Given the description of an element on the screen output the (x, y) to click on. 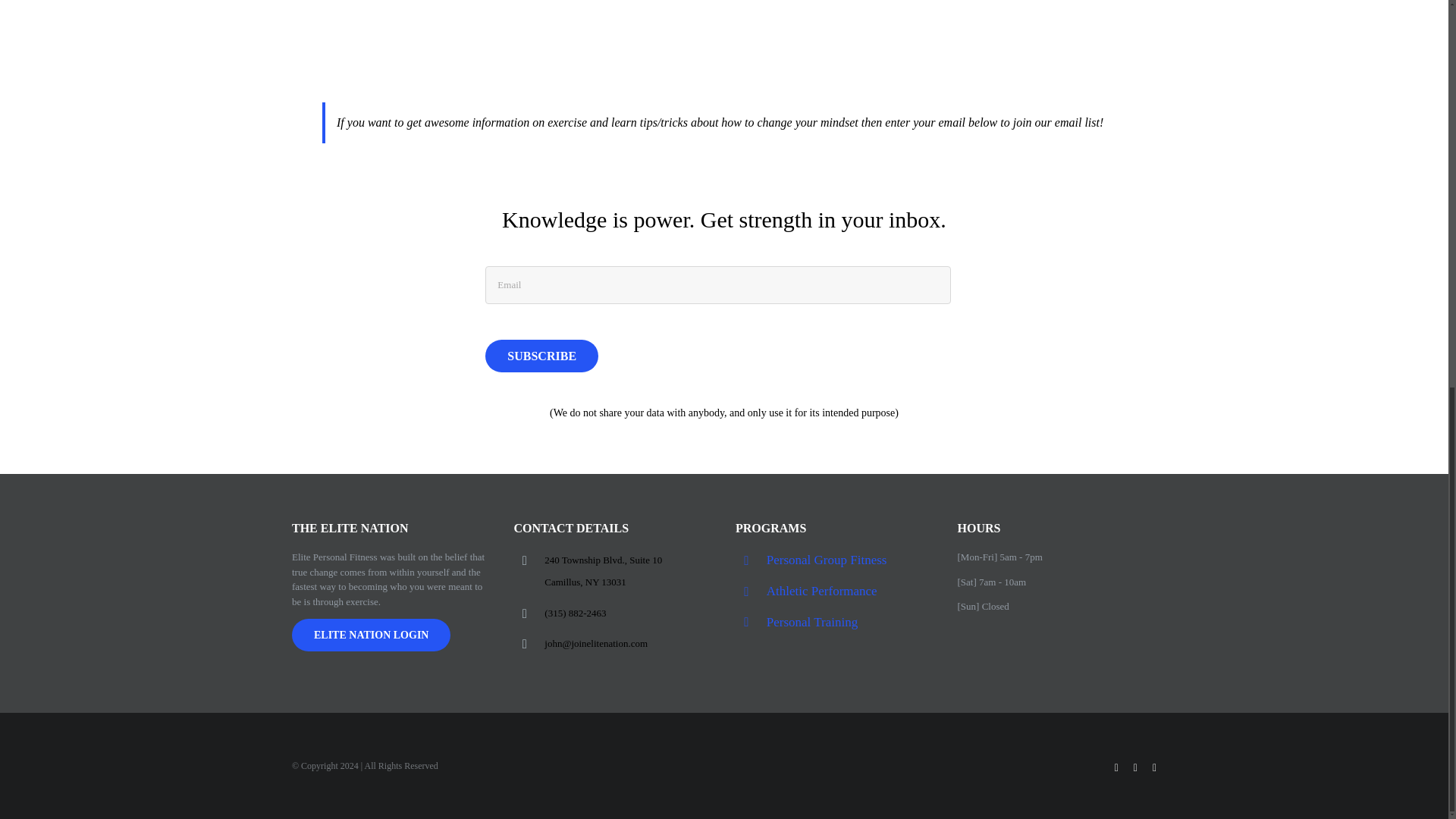
YouTube video player 1 (519, 214)
Subscribe (541, 355)
Subscribe (541, 355)
